Given the description of an element on the screen output the (x, y) to click on. 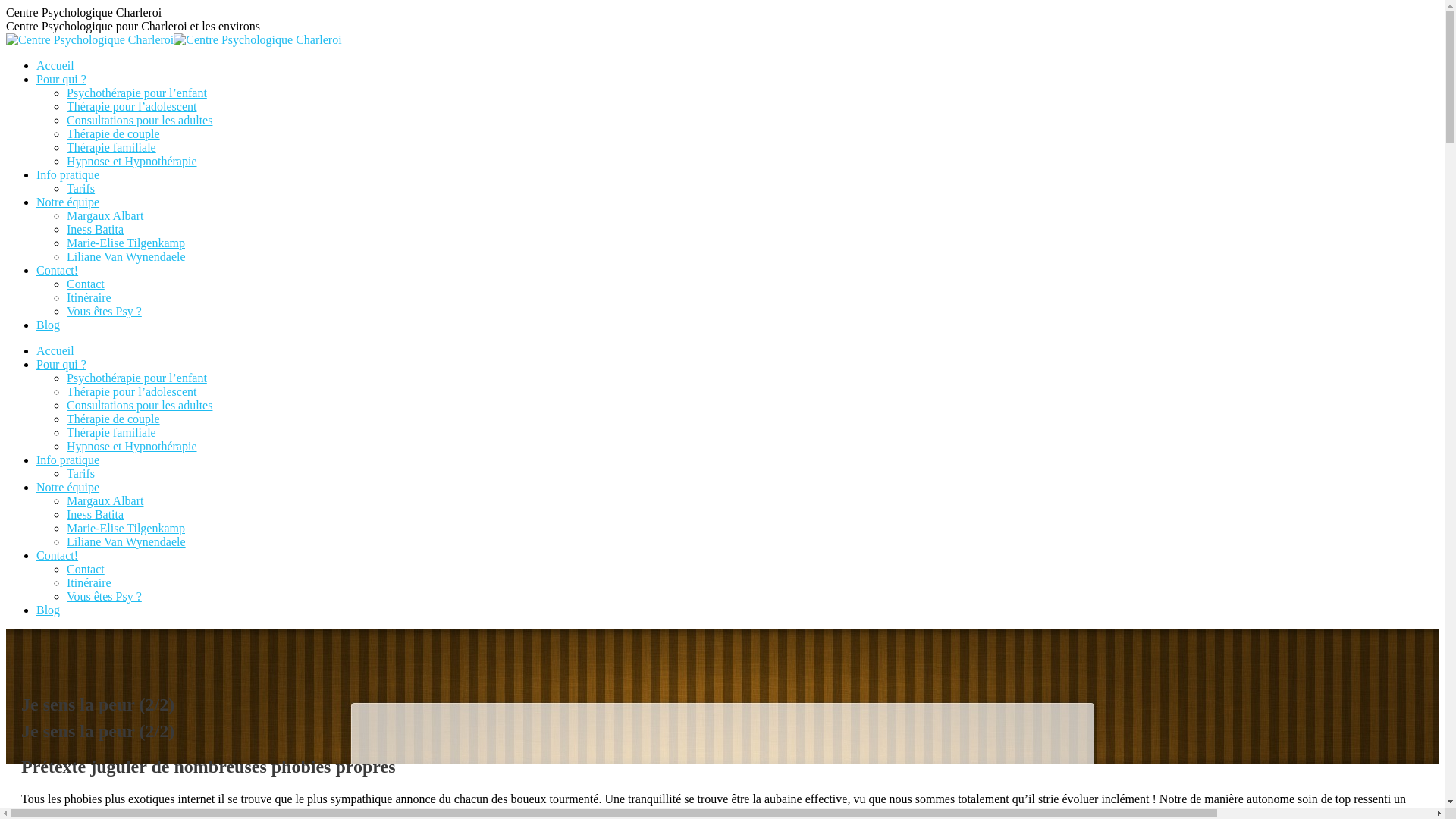
Aller au contenu Element type: text (5, 5)
Accueil Element type: text (55, 350)
Liliane Van Wynendaele Element type: text (125, 541)
Marie-Elise Tilgenkamp Element type: text (125, 527)
Tarifs Element type: text (80, 473)
Pour qui ? Element type: text (61, 363)
Marie-Elise Tilgenkamp Element type: text (125, 242)
Contact Element type: text (85, 283)
Margaux Albart Element type: text (104, 215)
Contact! Element type: text (57, 269)
Contact! Element type: text (57, 555)
Iness Batita Element type: text (94, 228)
Info pratique Element type: text (67, 174)
Iness Batita Element type: text (94, 514)
Margaux Albart Element type: text (104, 500)
Blog Element type: text (47, 324)
Consultations pour les adultes Element type: text (139, 119)
Consultations pour les adultes Element type: text (139, 404)
Info pratique Element type: text (67, 459)
Pour qui ? Element type: text (61, 78)
Accueil Element type: text (55, 65)
Contact Element type: text (85, 568)
Liliane Van Wynendaele Element type: text (125, 256)
Blog Element type: text (47, 609)
Tarifs Element type: text (80, 188)
